Given the description of an element on the screen output the (x, y) to click on. 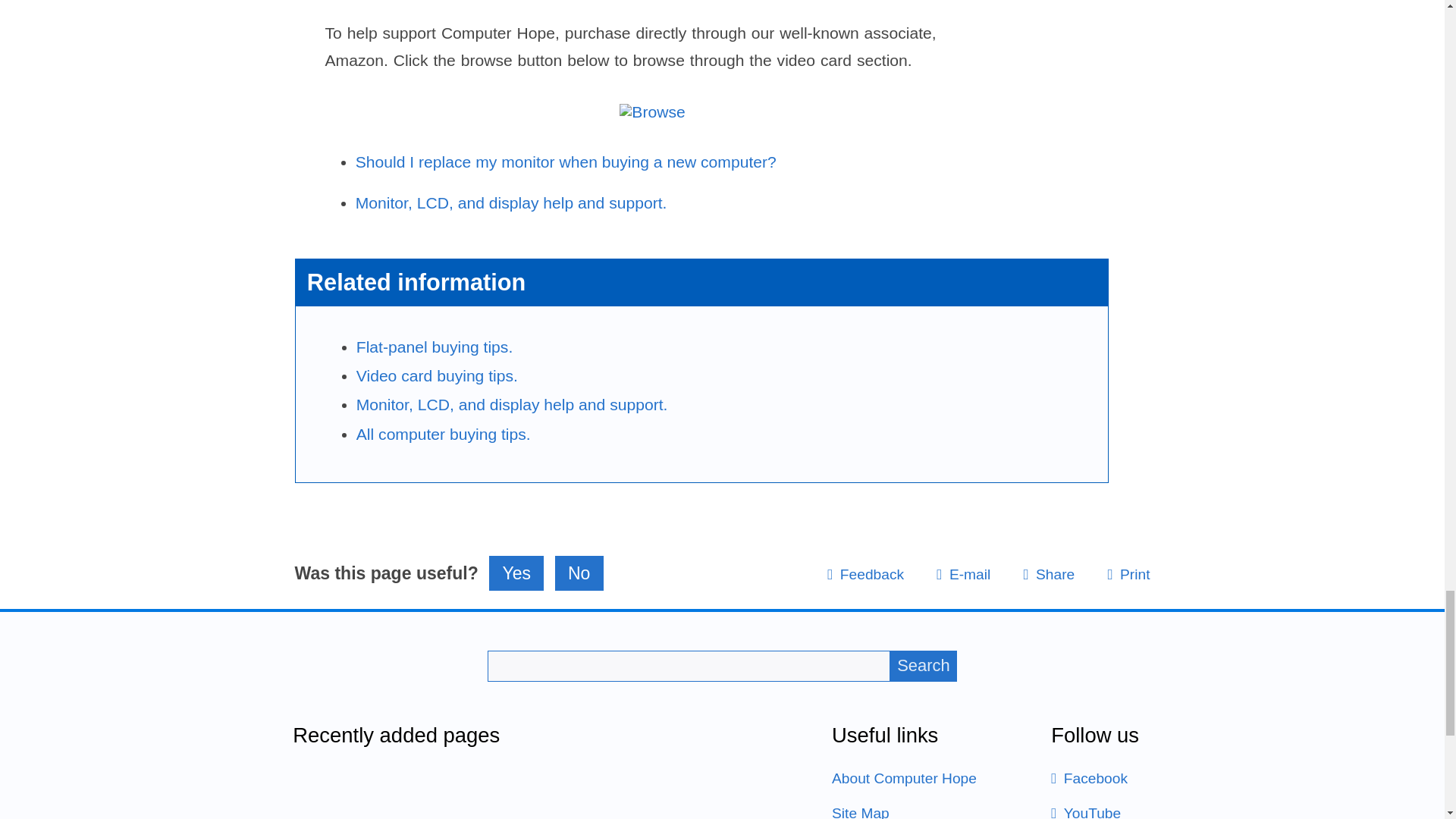
Yes (516, 573)
Share (1048, 574)
Print (1128, 574)
Give us your feedback about this page (865, 574)
Flat-panel buying tips. (434, 346)
About Computer Hope (903, 778)
All computer buying tips. (443, 434)
E-mail (963, 574)
Print a copy of this page (1128, 574)
Video card buying tips. (437, 375)
